Given the description of an element on the screen output the (x, y) to click on. 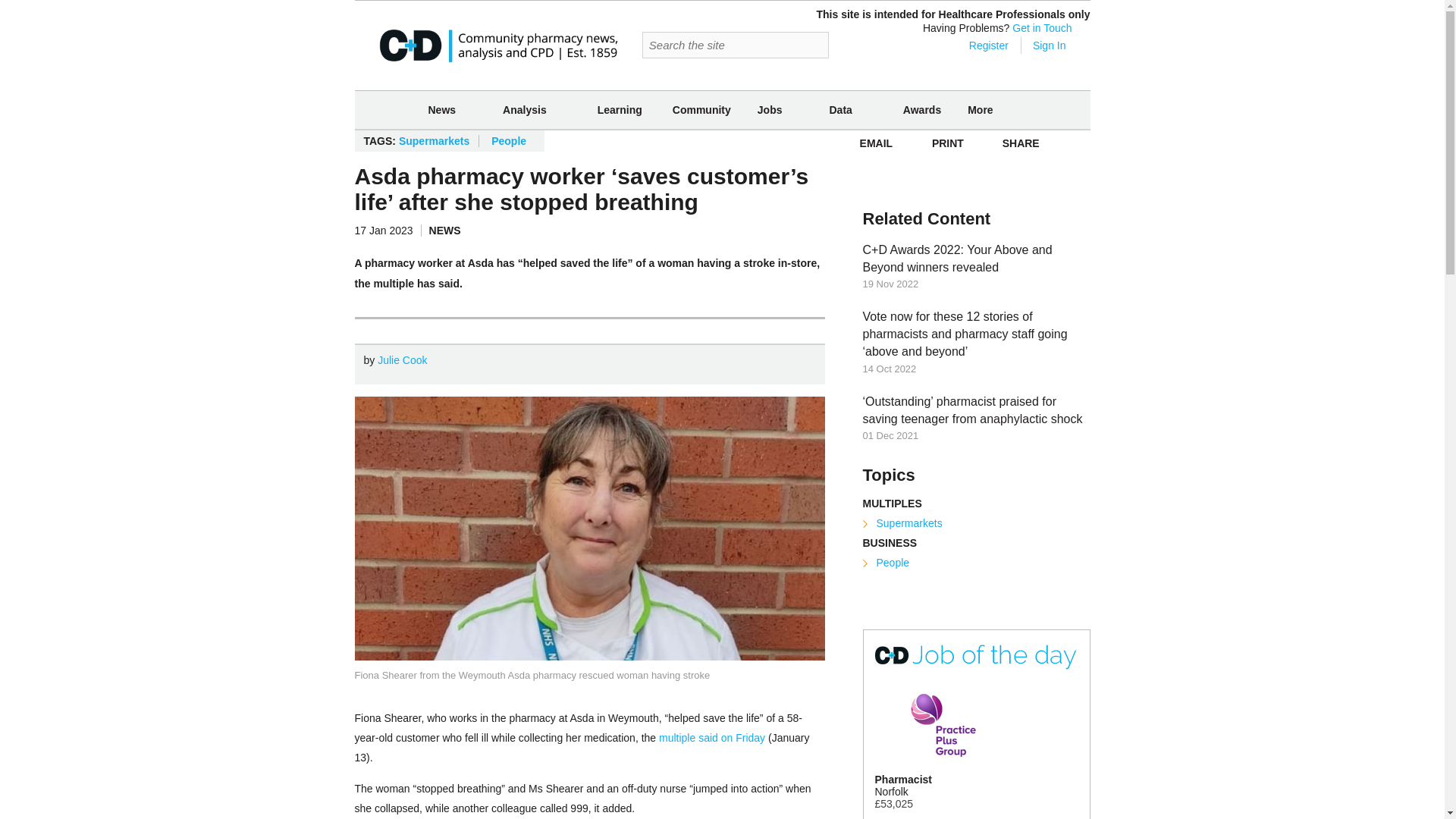
Analysis (524, 110)
Learning (620, 109)
Sign In (1048, 45)
Data (839, 110)
Awards (922, 109)
Jobs (770, 110)
News (441, 110)
Get in Touch (1041, 28)
Register (978, 45)
Community (701, 109)
